Given the description of an element on the screen output the (x, y) to click on. 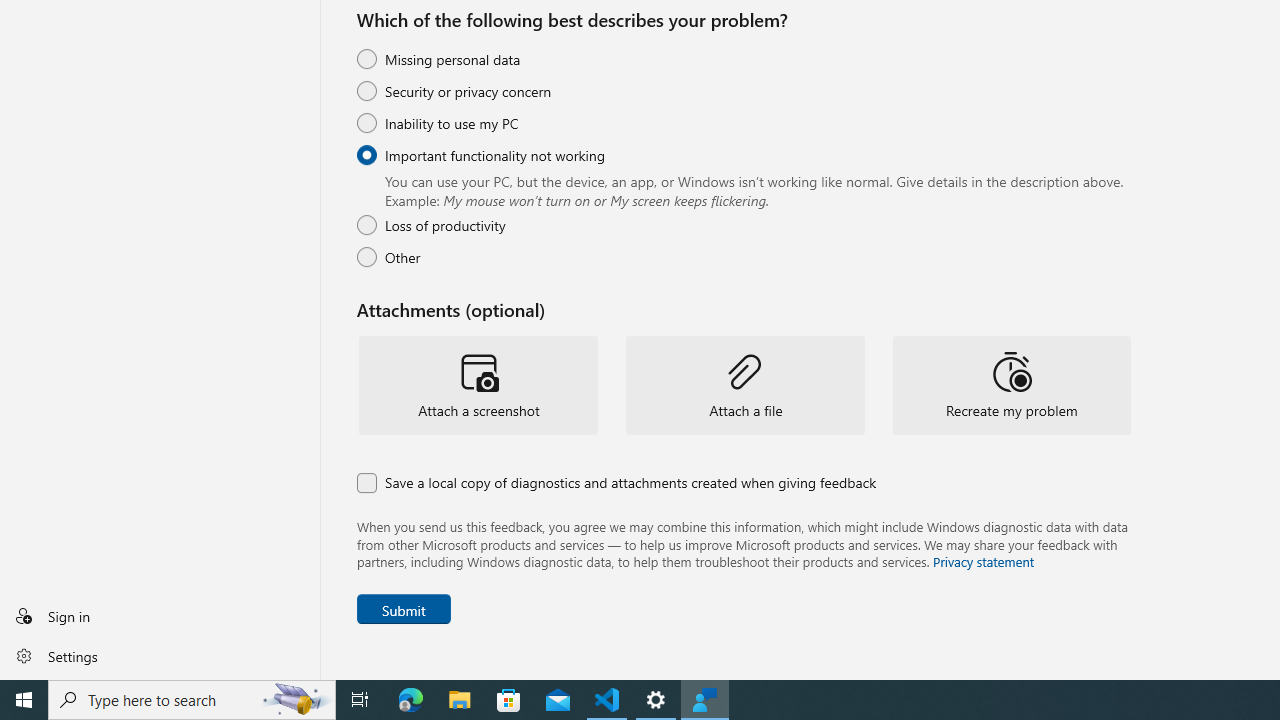
Attach a file. Will open a file dialog. (745, 385)
Start (24, 699)
Recreate my problem (1011, 385)
Settings - 1 running window (656, 699)
Task View (359, 699)
Sign in (159, 616)
Settings (159, 655)
Microsoft Edge (411, 699)
Submit Feedback (403, 609)
